Given the description of an element on the screen output the (x, y) to click on. 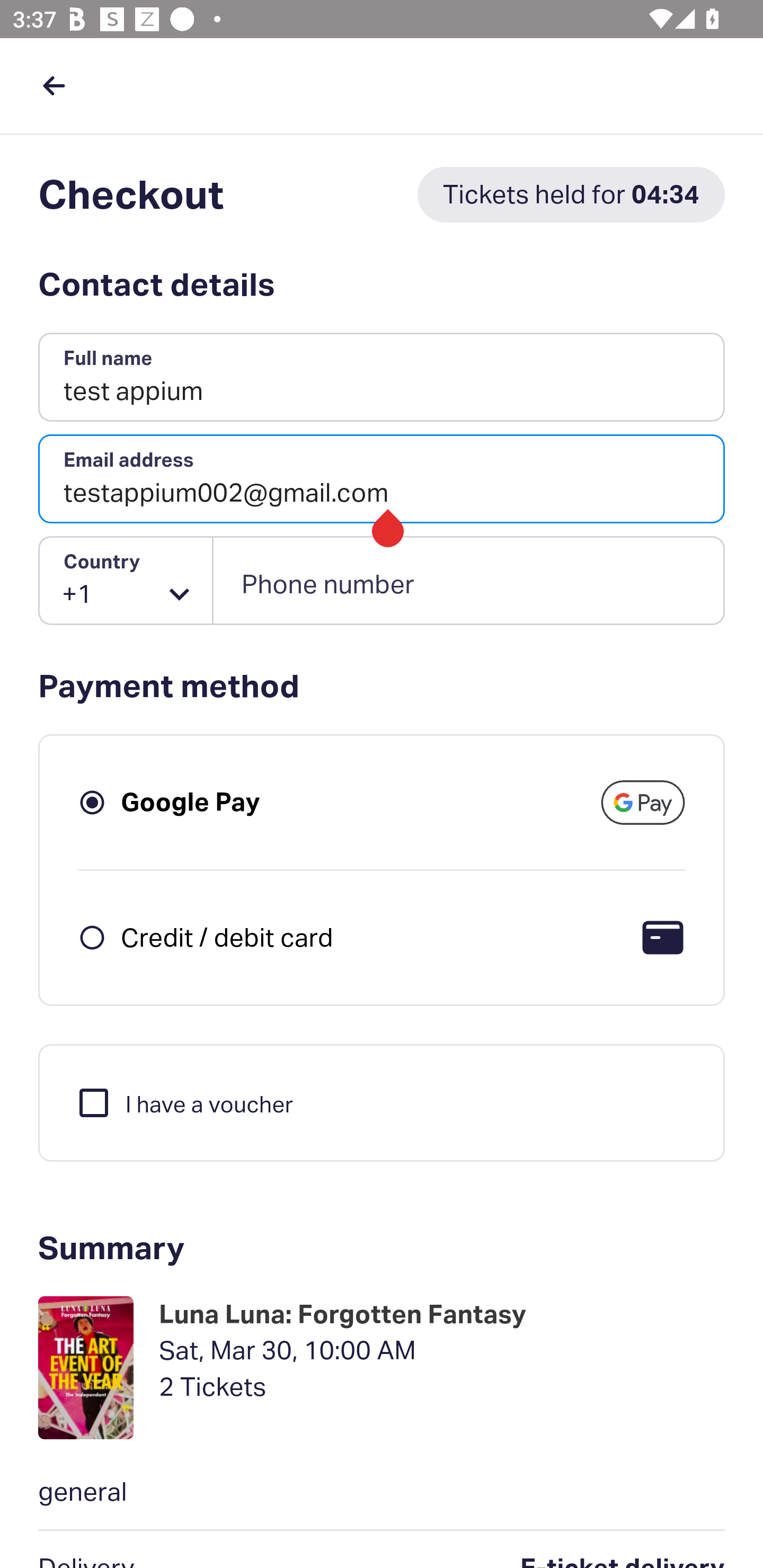
back button (53, 85)
test appium (381, 377)
testappium002@gmail.com (381, 478)
  +1 (126, 580)
Google Pay (190, 802)
Credit / debit card (227, 936)
I have a voucher (183, 1101)
